Given the description of an element on the screen output the (x, y) to click on. 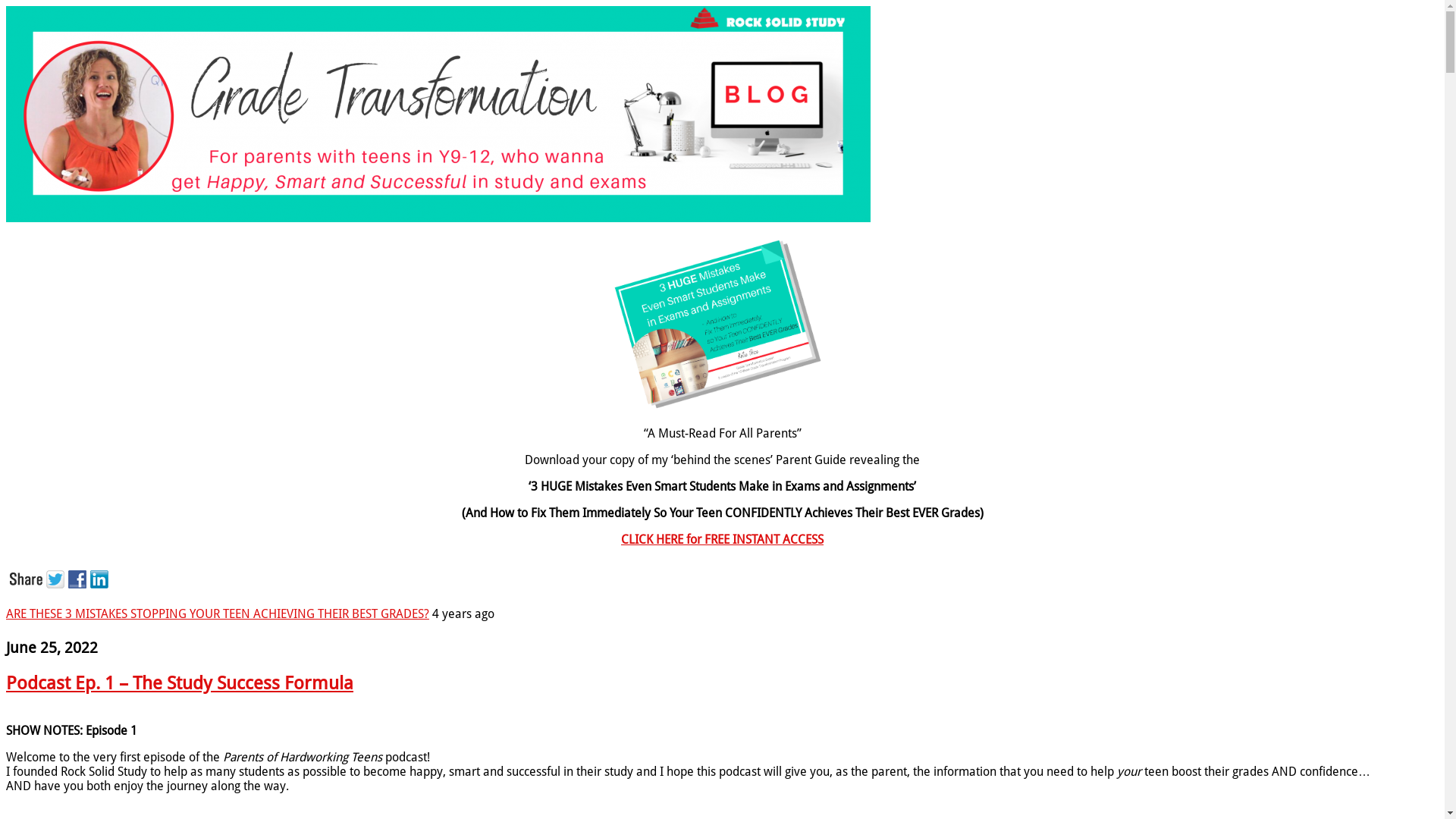
Grade Transformation Blog Element type: hover (438, 217)
Facebook Element type: hover (79, 577)
Twitter Element type: hover (57, 577)
CLICK HERE for FREE INSTANT ACCESS Element type: text (722, 539)
Linkedin Element type: hover (101, 577)
